Given the description of an element on the screen output the (x, y) to click on. 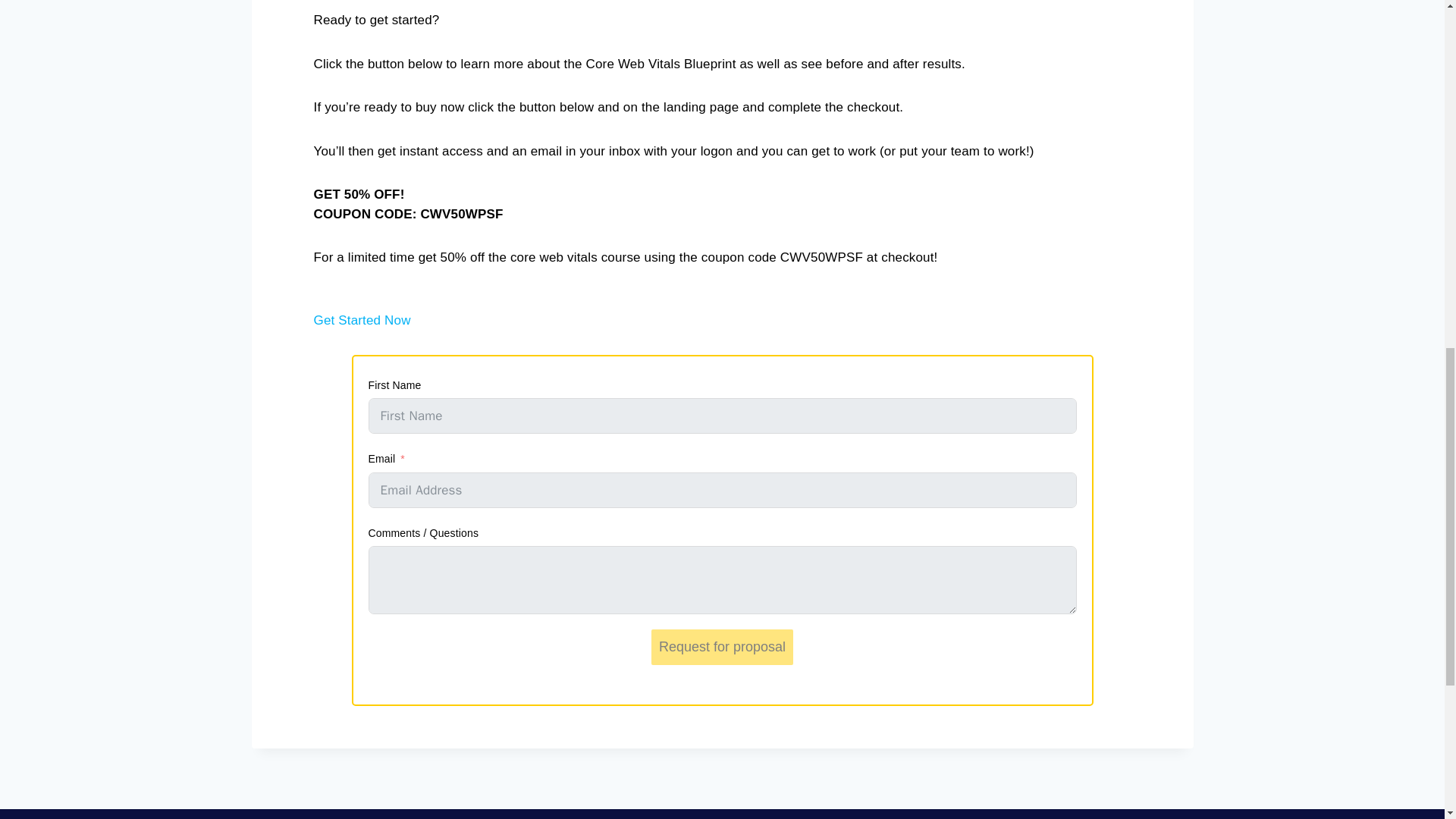
Request for proposal (721, 647)
Get Started Now (362, 329)
